Given the description of an element on the screen output the (x, y) to click on. 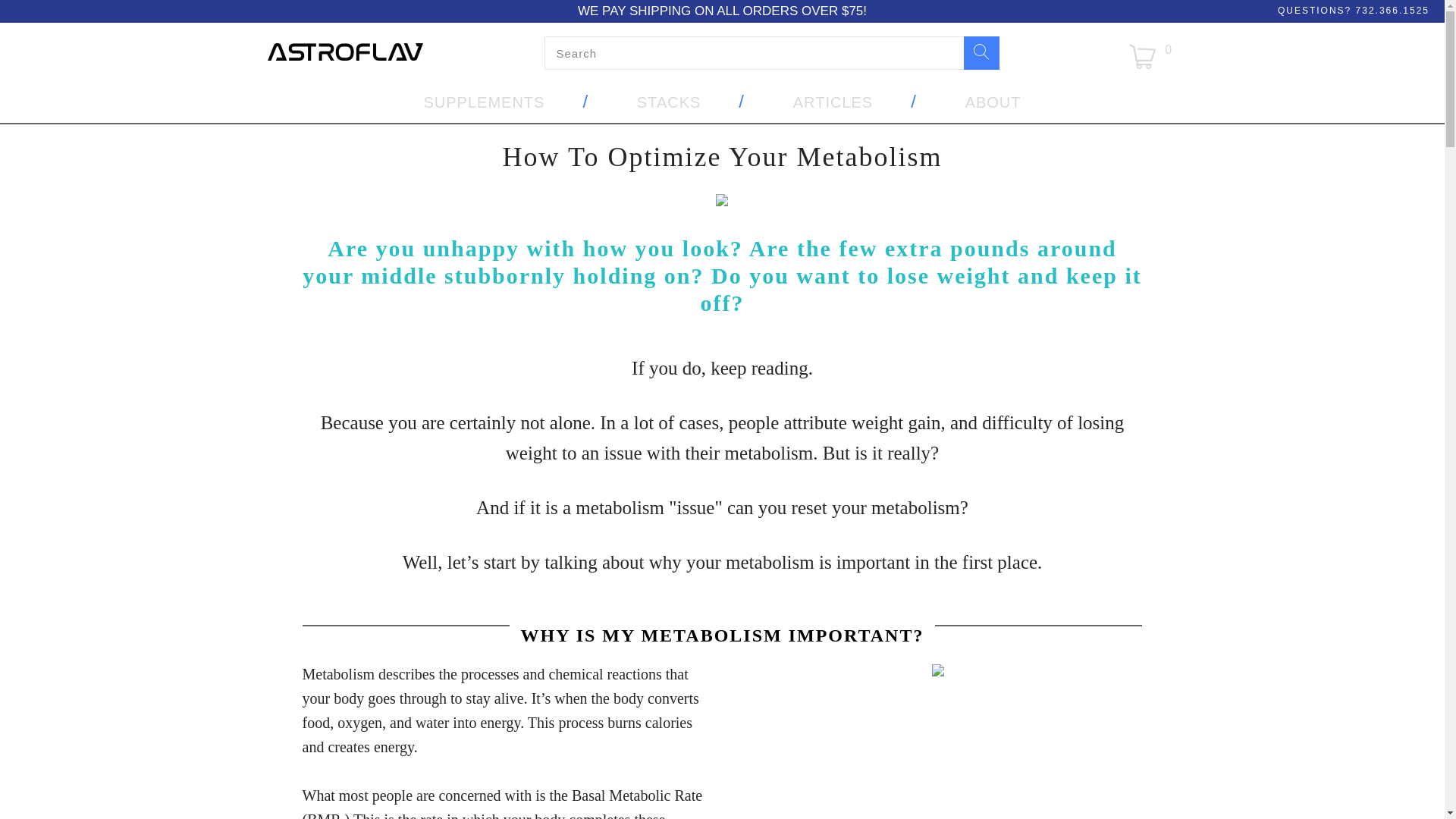
STACKS (669, 102)
ABOUT (993, 102)
Astroflav (344, 53)
QUESTIONS? 732.366.1525 (1353, 9)
ARTICLES (832, 102)
SUPPLEMENTS (483, 102)
